Given the description of an element on the screen output the (x, y) to click on. 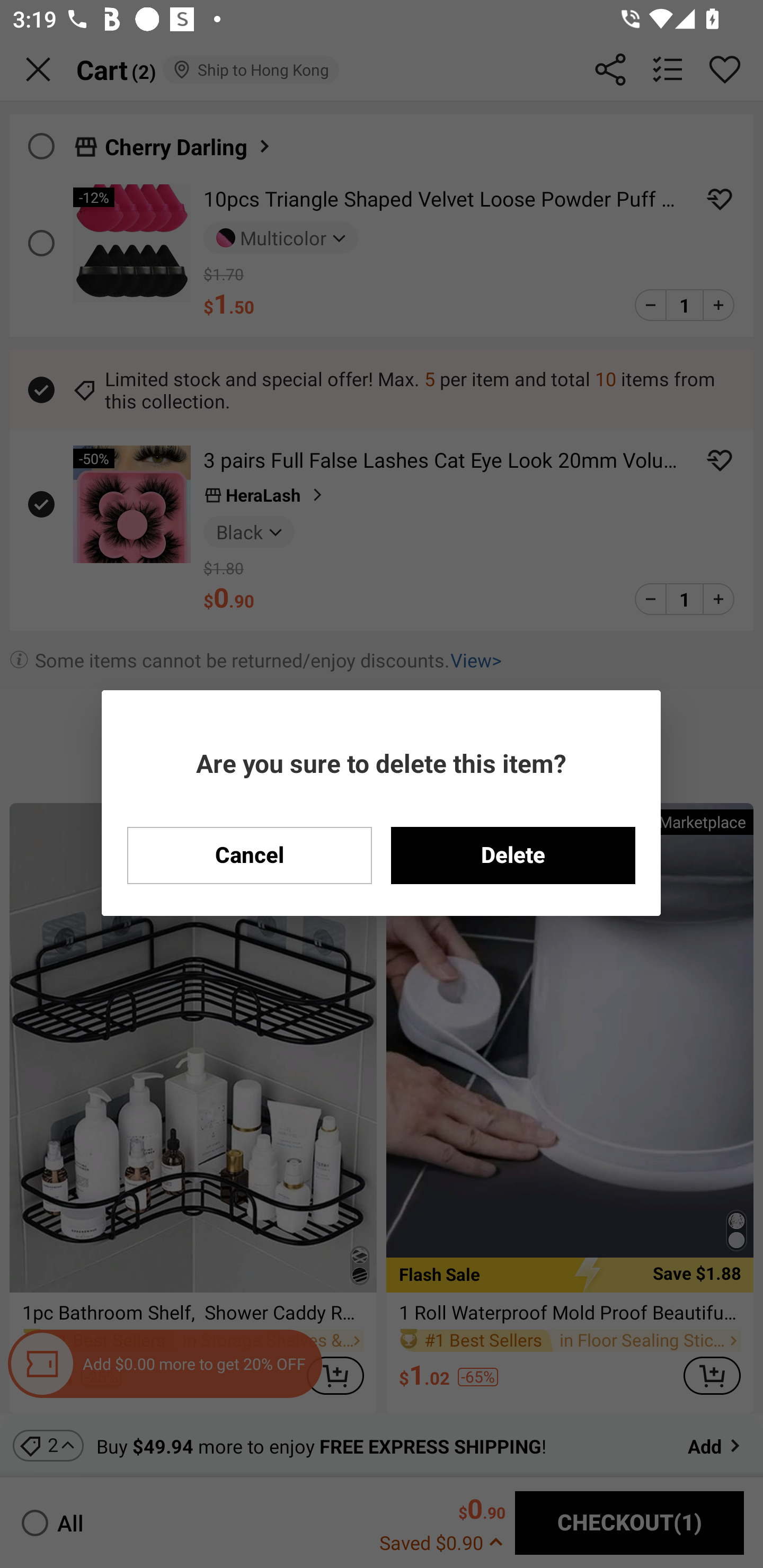
Are you sure to delete this item? (380, 763)
Cancel (249, 855)
Delete (512, 855)
